Given the description of an element on the screen output the (x, y) to click on. 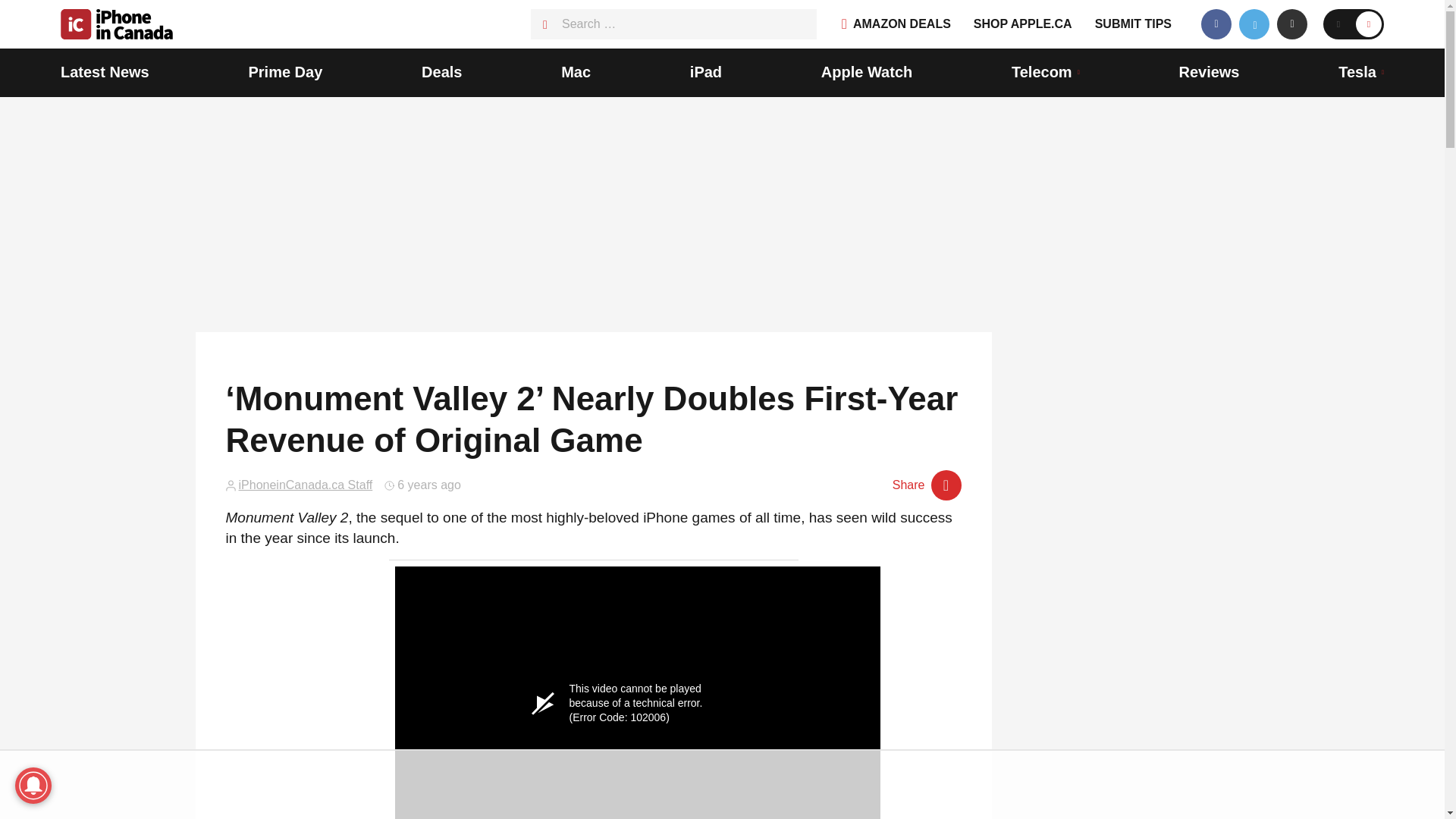
Share (926, 485)
Reviews (1208, 72)
Latest News (105, 72)
SHOP APPLE.CA (1022, 23)
SUBMIT TIPS (1133, 23)
Apple Watch (866, 72)
Search for: (673, 24)
Prime Day (284, 72)
iPhoneinCanada.ca Staff (305, 484)
AMAZON DEALS (895, 23)
